Given the description of an element on the screen output the (x, y) to click on. 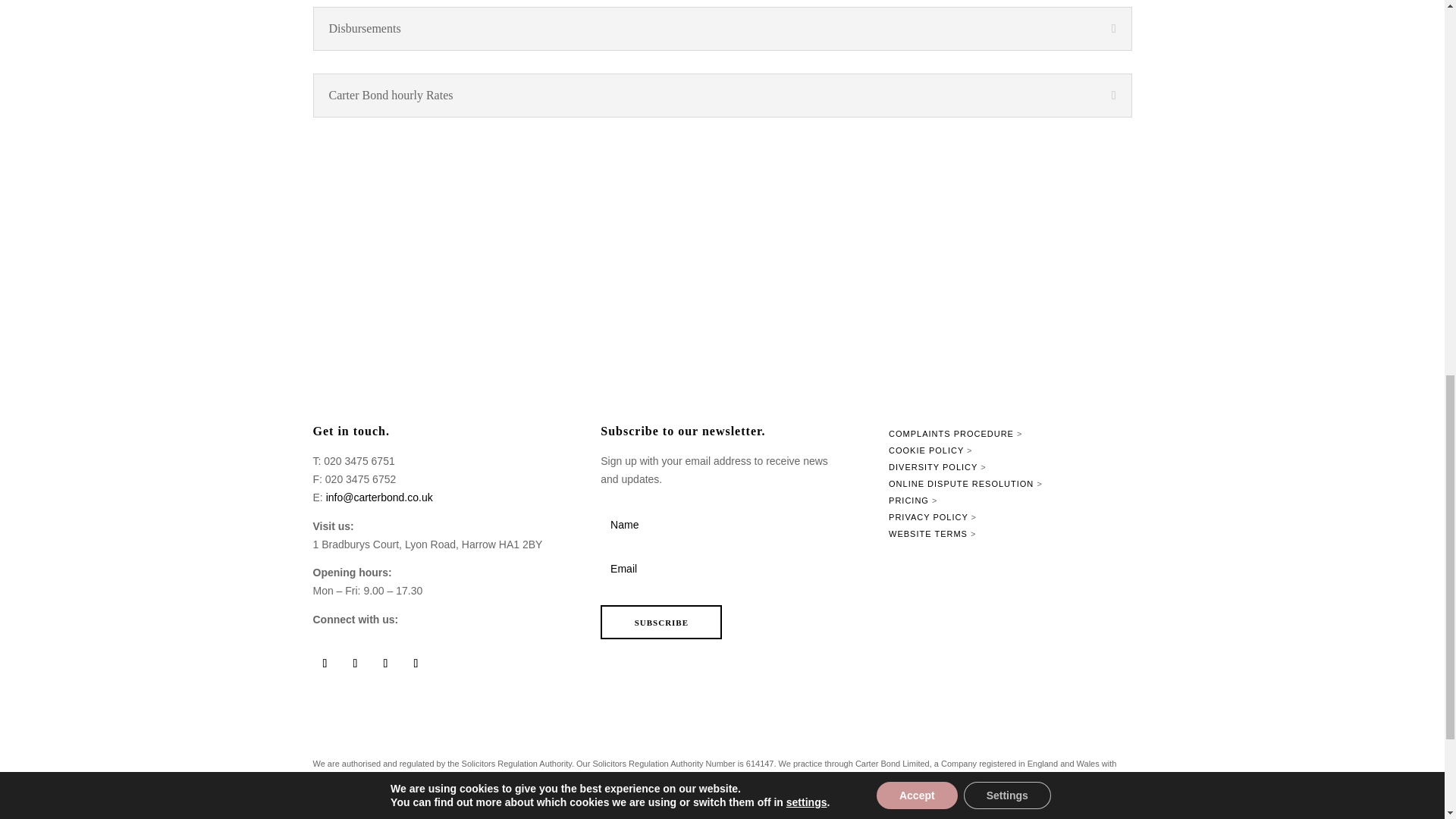
Follow on LinkedIn (324, 663)
Follow on Facebook (354, 663)
Follow on Instagram (384, 663)
NPA Logo Recommended BP SK (651, 327)
NASDAL logo (933, 326)
Cyber Essentials Certification (1072, 328)
